Given the description of an element on the screen output the (x, y) to click on. 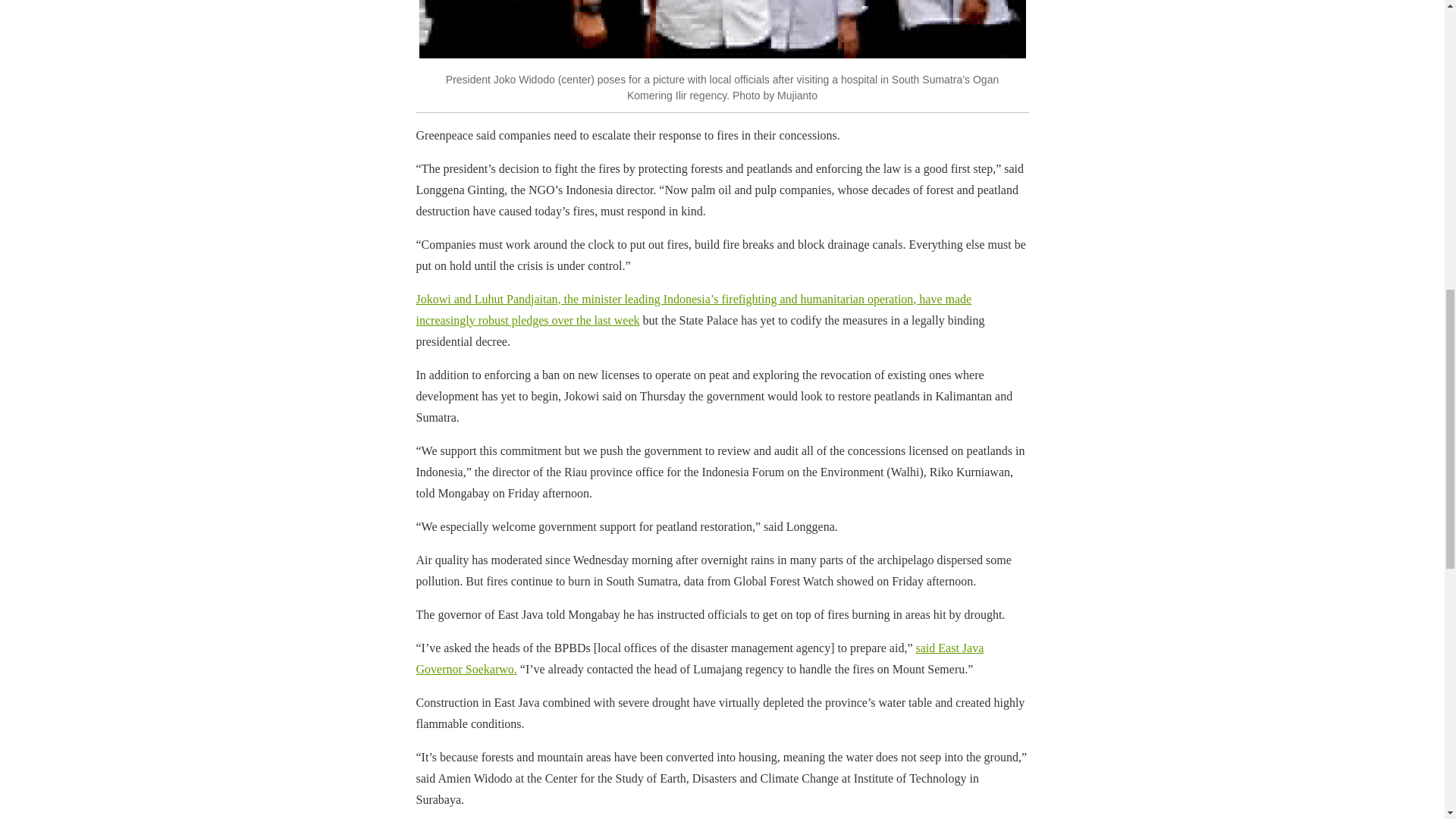
said East Java Governor Soekarwo. (699, 658)
